Given the description of an element on the screen output the (x, y) to click on. 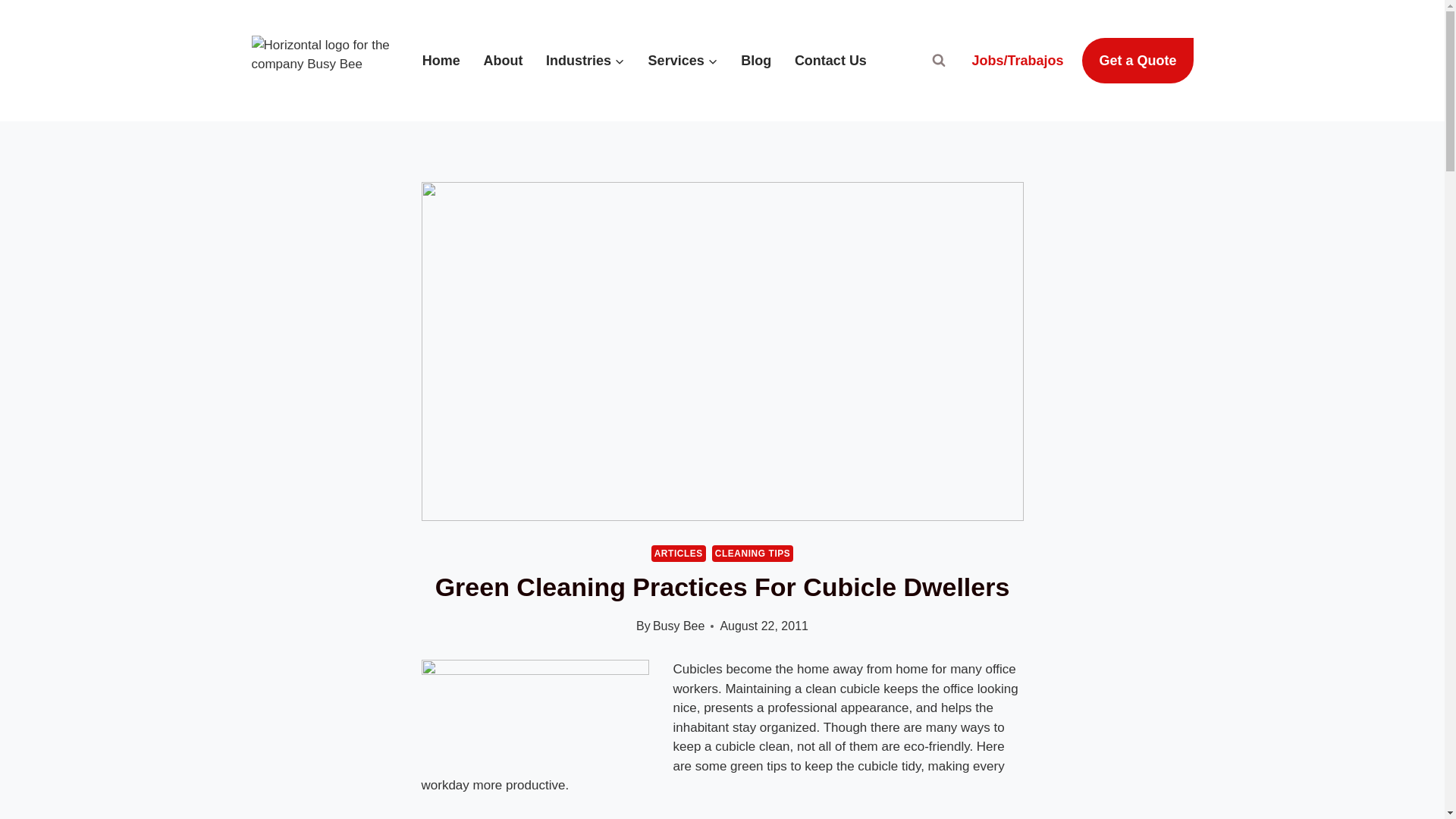
Contact Us (831, 60)
ecology (535, 711)
Services (682, 60)
Get a Quote (1136, 60)
Blog (756, 60)
Home (440, 60)
Industries (585, 60)
About (502, 60)
